Given the description of an element on the screen output the (x, y) to click on. 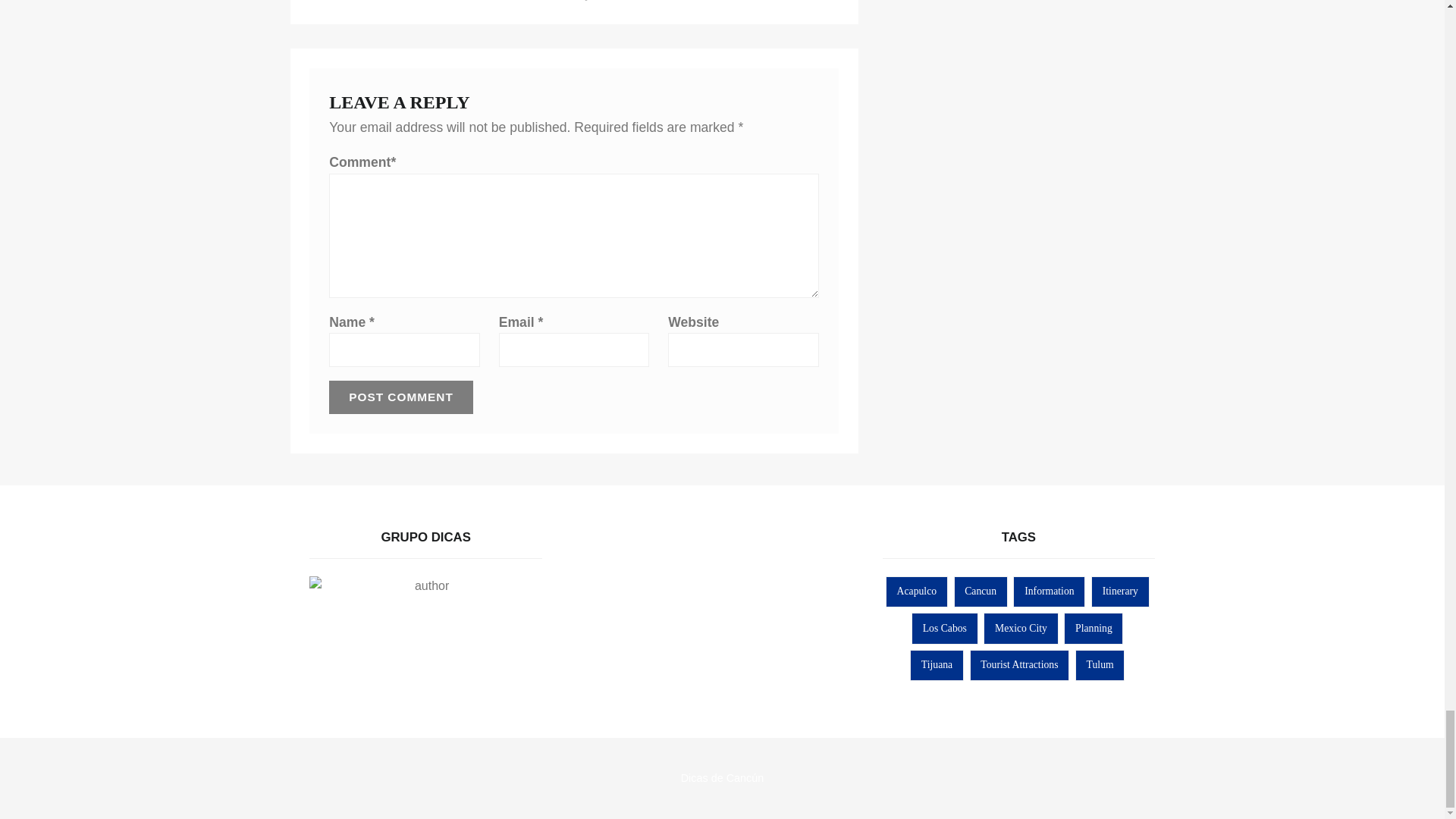
Post Comment (401, 397)
